Given the description of an element on the screen output the (x, y) to click on. 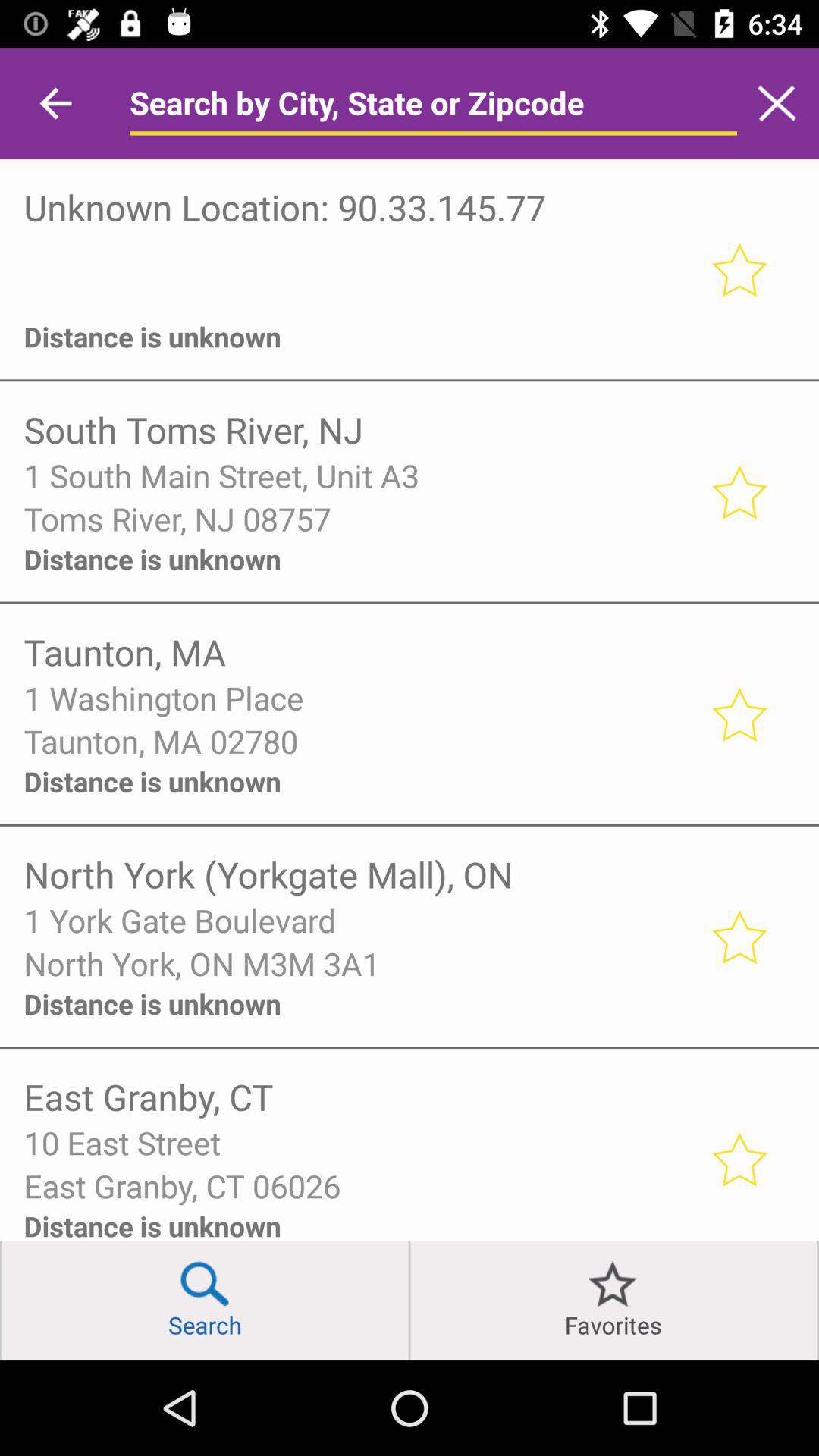
scroll until the   item (356, 295)
